Given the description of an element on the screen output the (x, y) to click on. 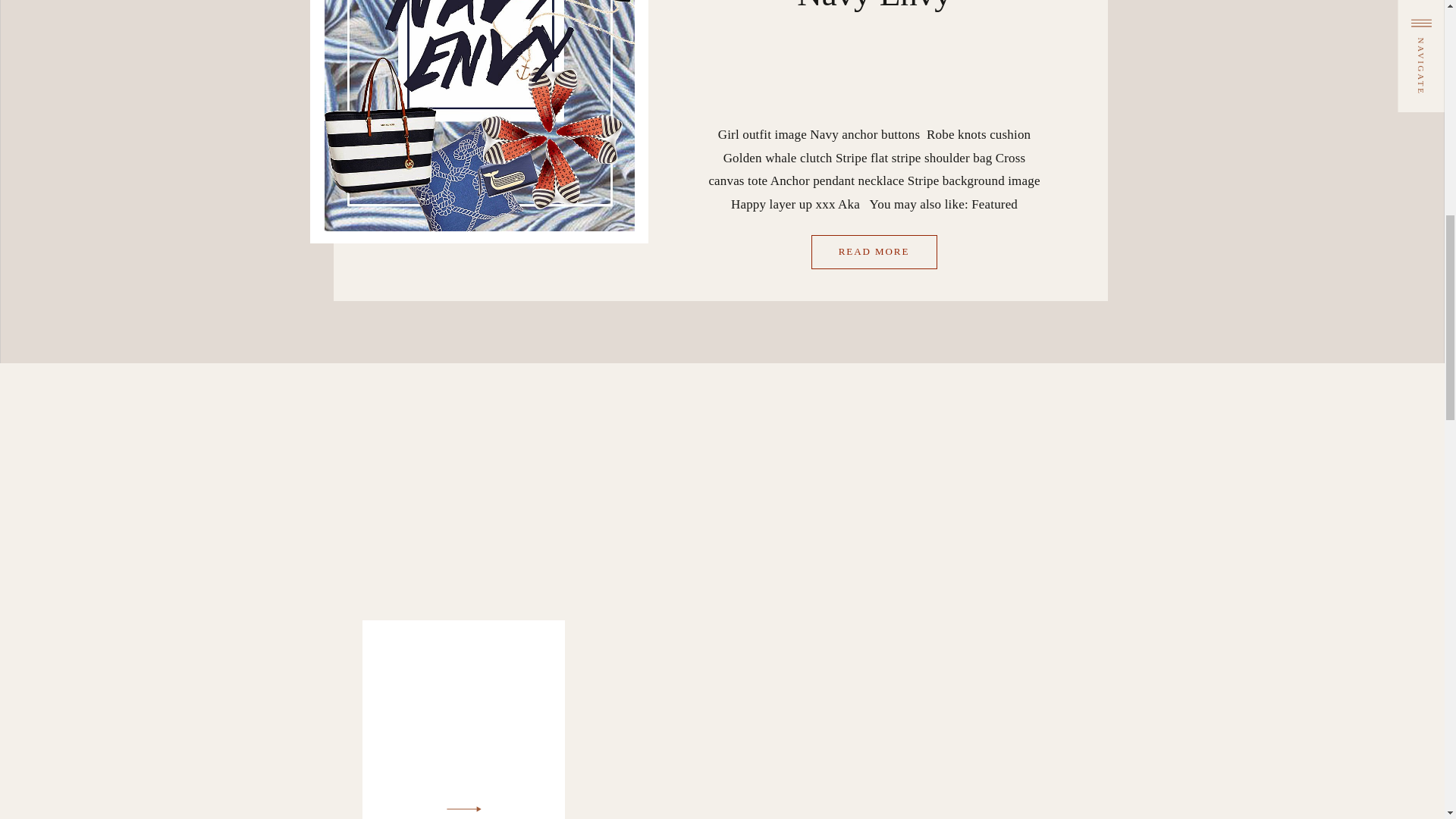
Navy Envy (874, 6)
Navy Envy (874, 251)
READ MORE (874, 251)
